Given the description of an element on the screen output the (x, y) to click on. 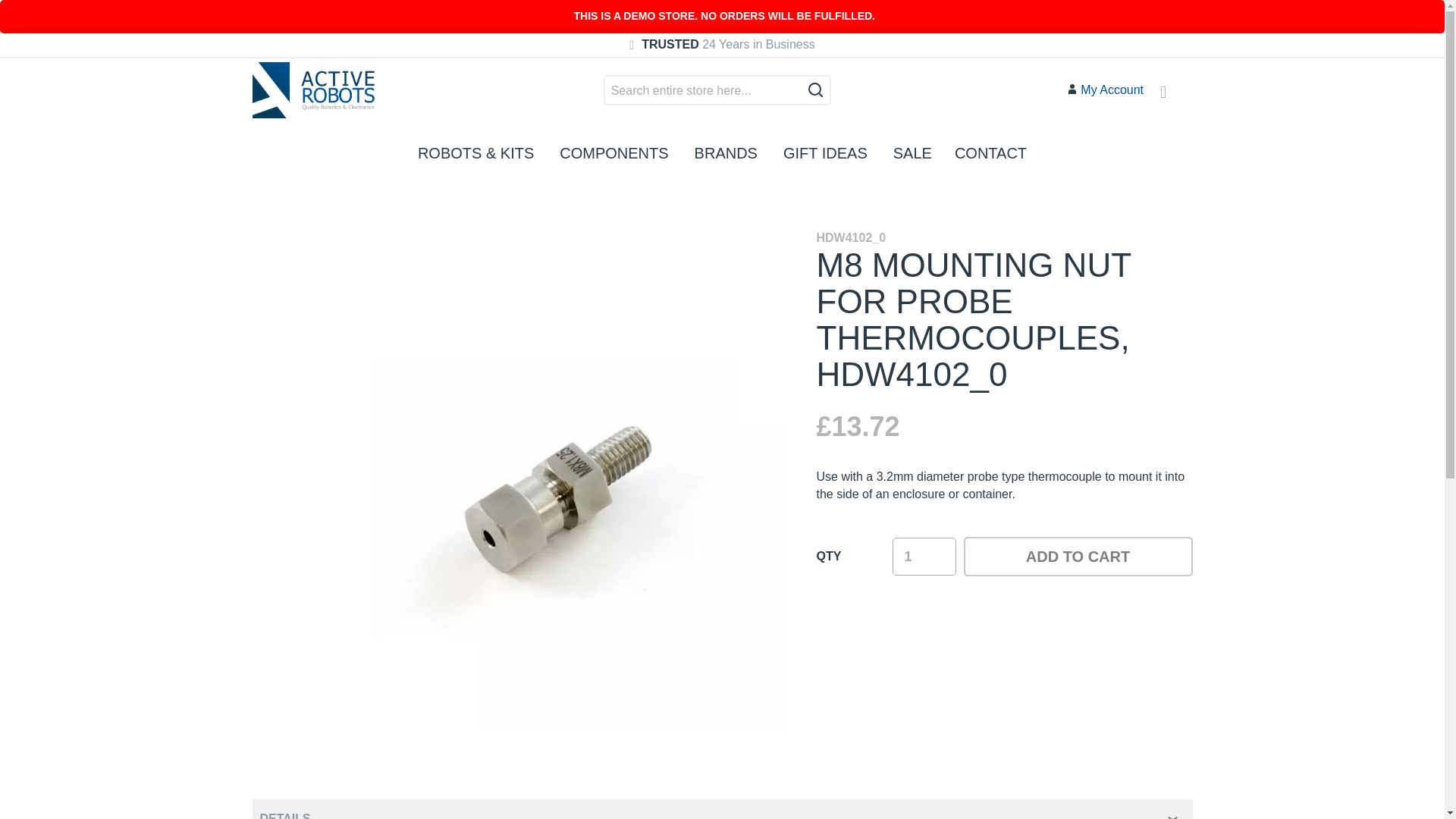
Qty (923, 556)
My Account (1104, 90)
1 (923, 556)
Add to Cart (1077, 556)
My Cart (1174, 92)
My Account (1104, 90)
Active Robots (312, 89)
